Given the description of an element on the screen output the (x, y) to click on. 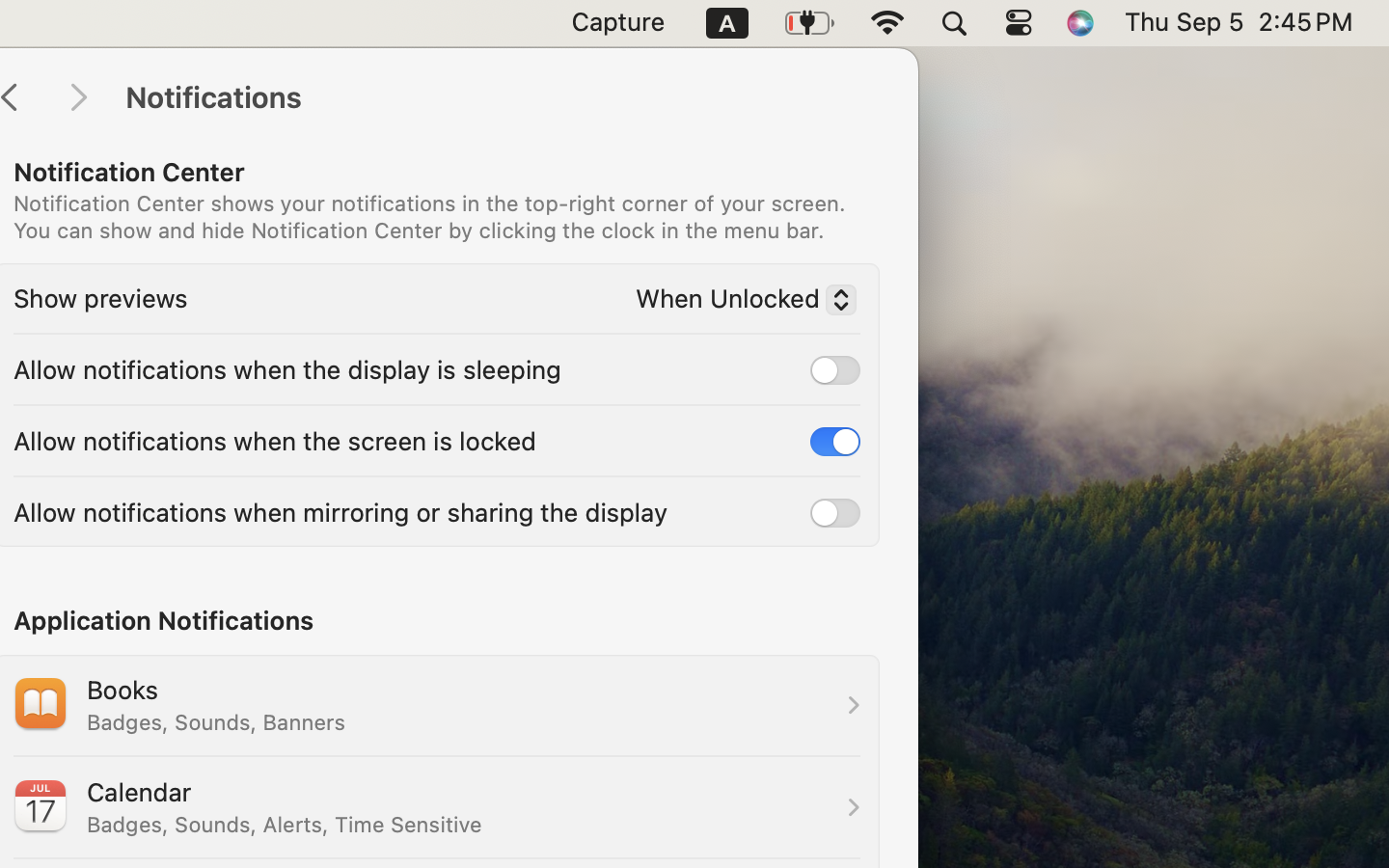
Allow notifications when mirroring or sharing the display Element type: AXStaticText (340, 510)
Show previews Element type: AXStaticText (100, 296)
Allow notifications when the screen is locked Element type: AXStaticText (274, 439)
Allow notifications when the display is sleeping Element type: AXStaticText (287, 367)
